Given the description of an element on the screen output the (x, y) to click on. 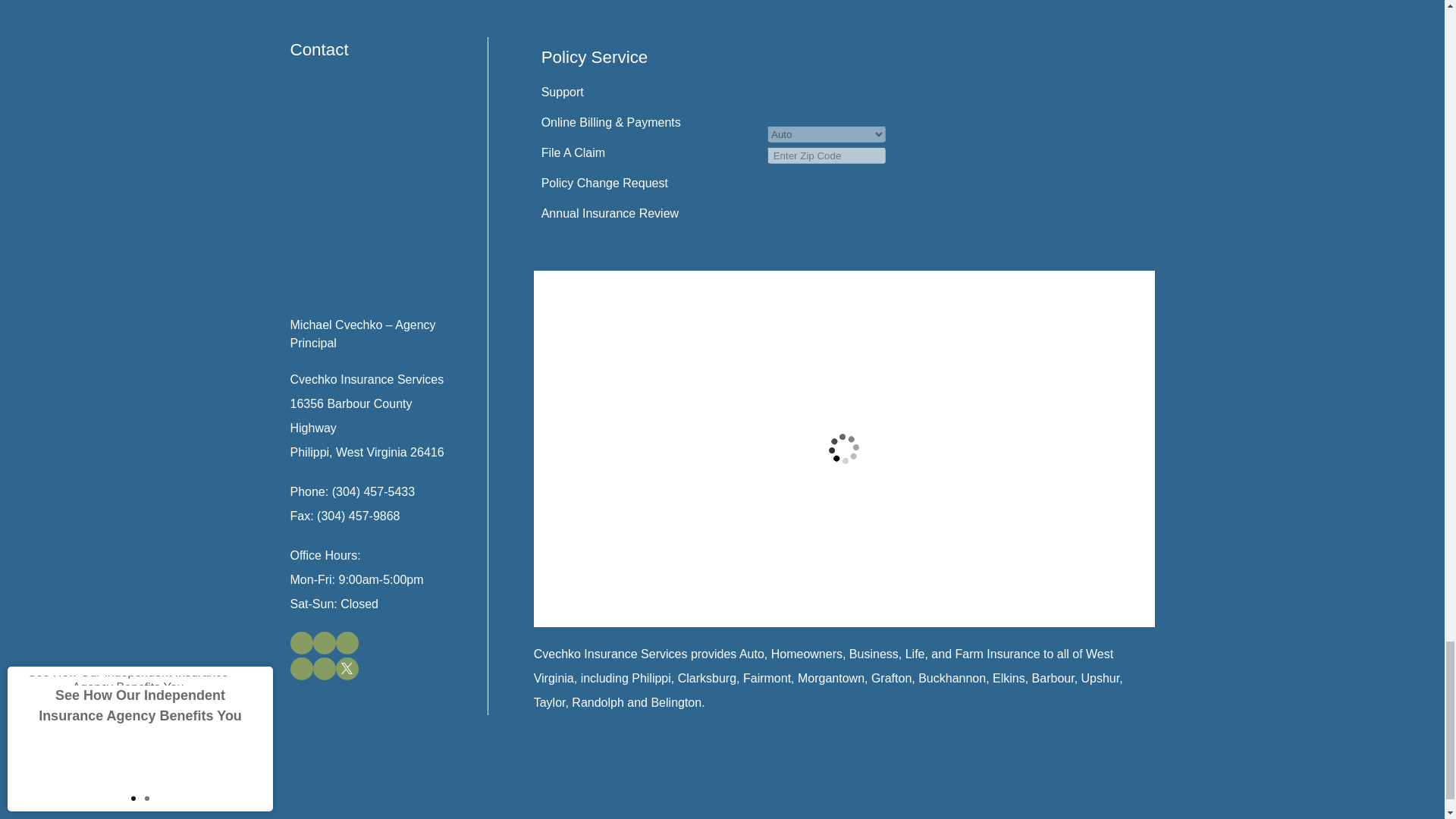
Expertise Badge (1020, 101)
